Given the description of an element on the screen output the (x, y) to click on. 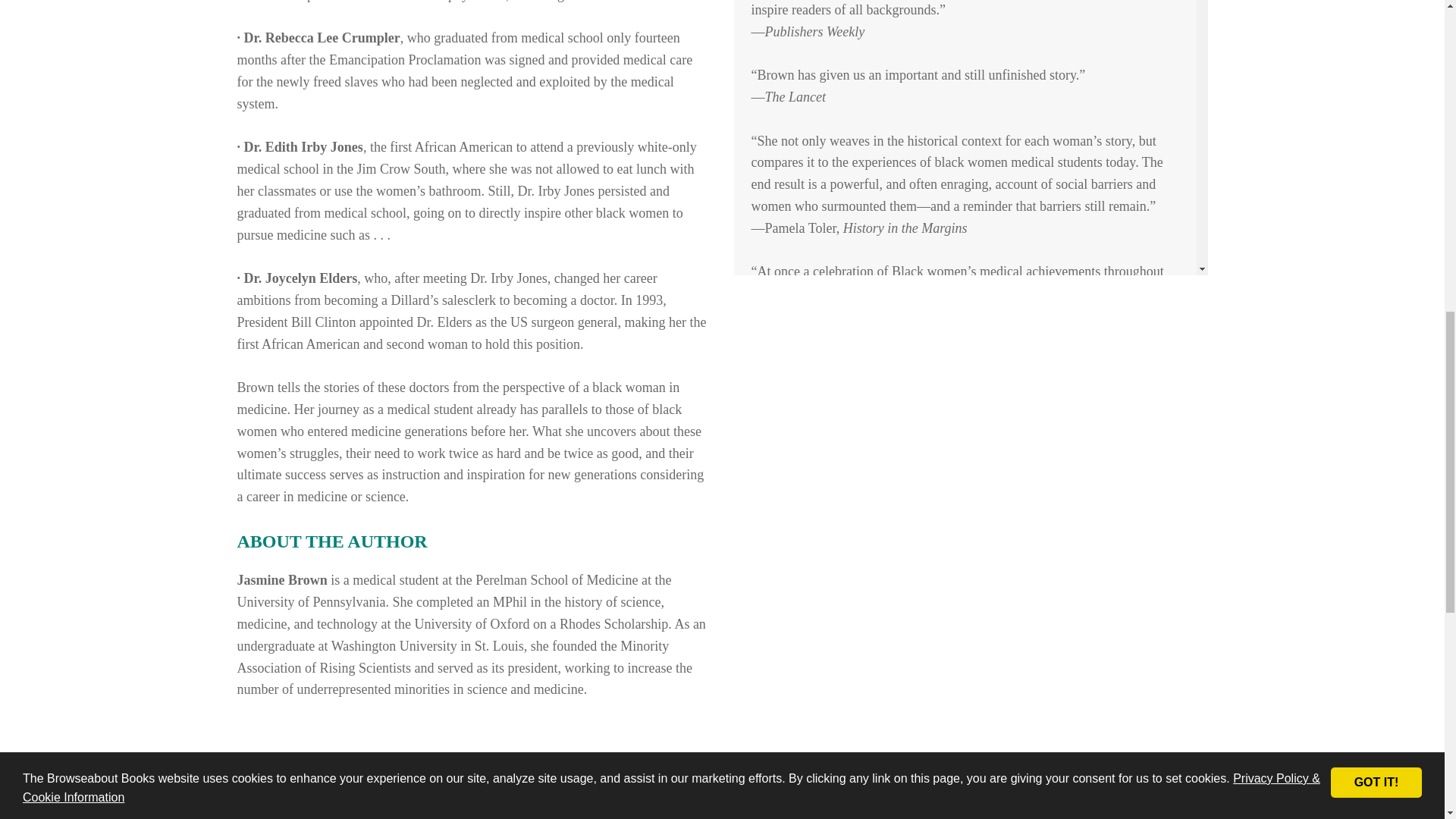
GOT IT! (1376, 52)
